Given the description of an element on the screen output the (x, y) to click on. 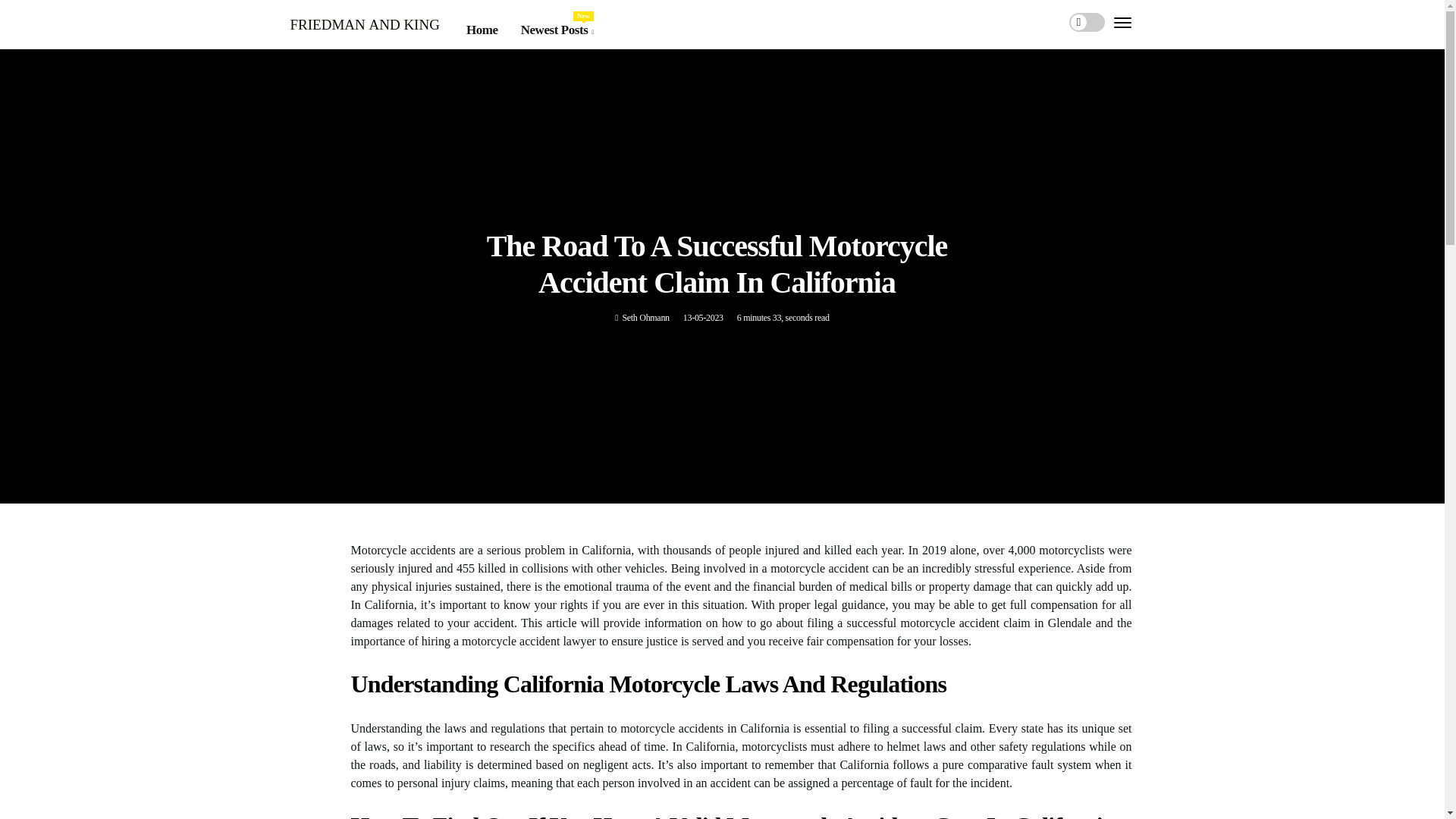
Seth Ohmann (644, 317)
Posts by Seth Ohmann (557, 30)
